Given the description of an element on the screen output the (x, y) to click on. 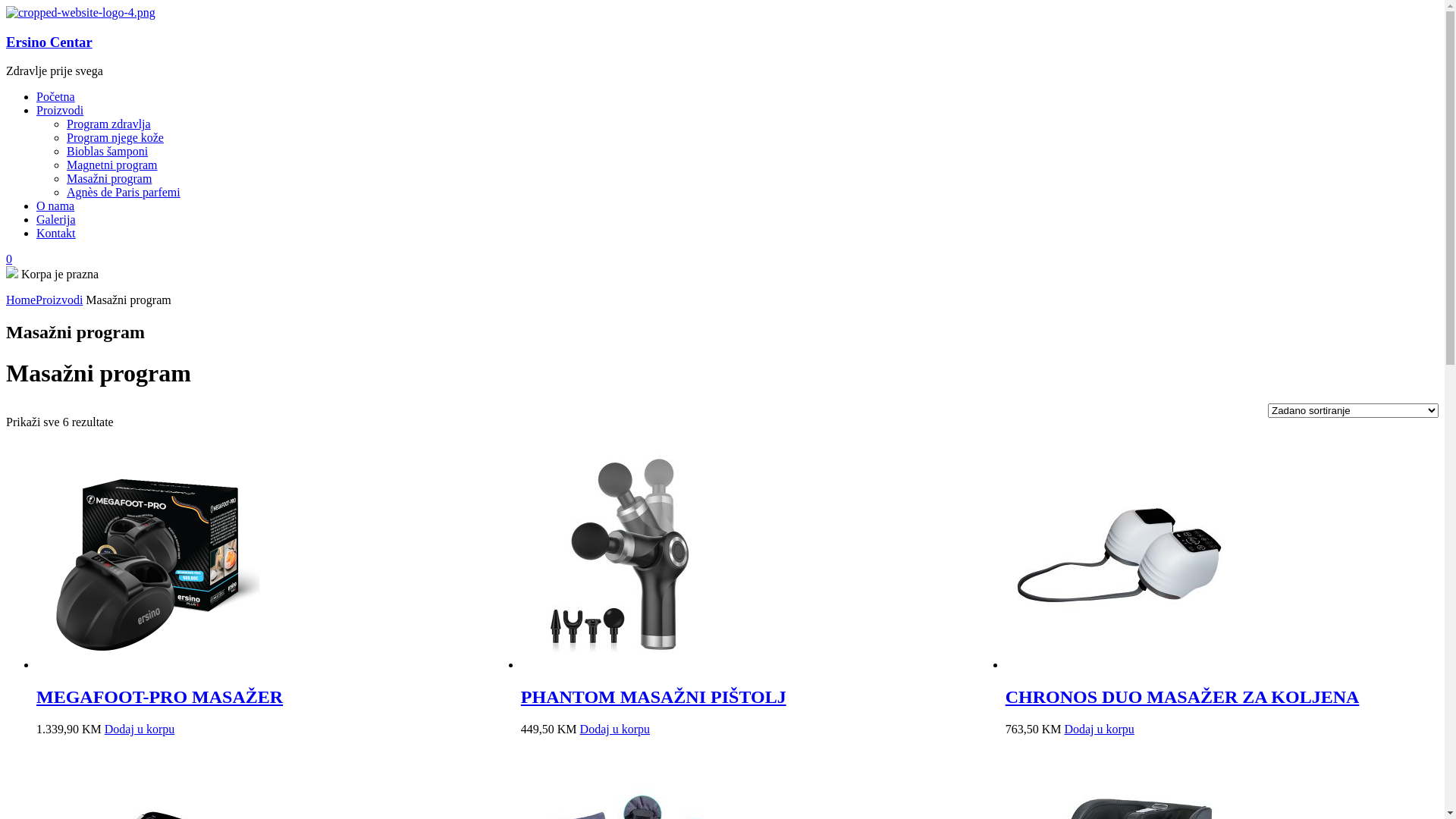
Kontakt Element type: text (55, 232)
Dodaj u korpu Element type: text (1098, 728)
Dodaj u korpu Element type: text (614, 728)
0 Element type: text (9, 258)
Galerija Element type: text (55, 219)
Home Element type: text (20, 299)
Dodaj u korpu Element type: text (139, 728)
Ersino Centar Element type: text (49, 42)
Ersino Centar Element type: hover (80, 12)
Proizvodi Element type: text (58, 299)
Program zdravlja Element type: text (108, 123)
Magnetni program Element type: text (111, 164)
O nama Element type: text (55, 205)
Proizvodi Element type: text (59, 109)
